Given the description of an element on the screen output the (x, y) to click on. 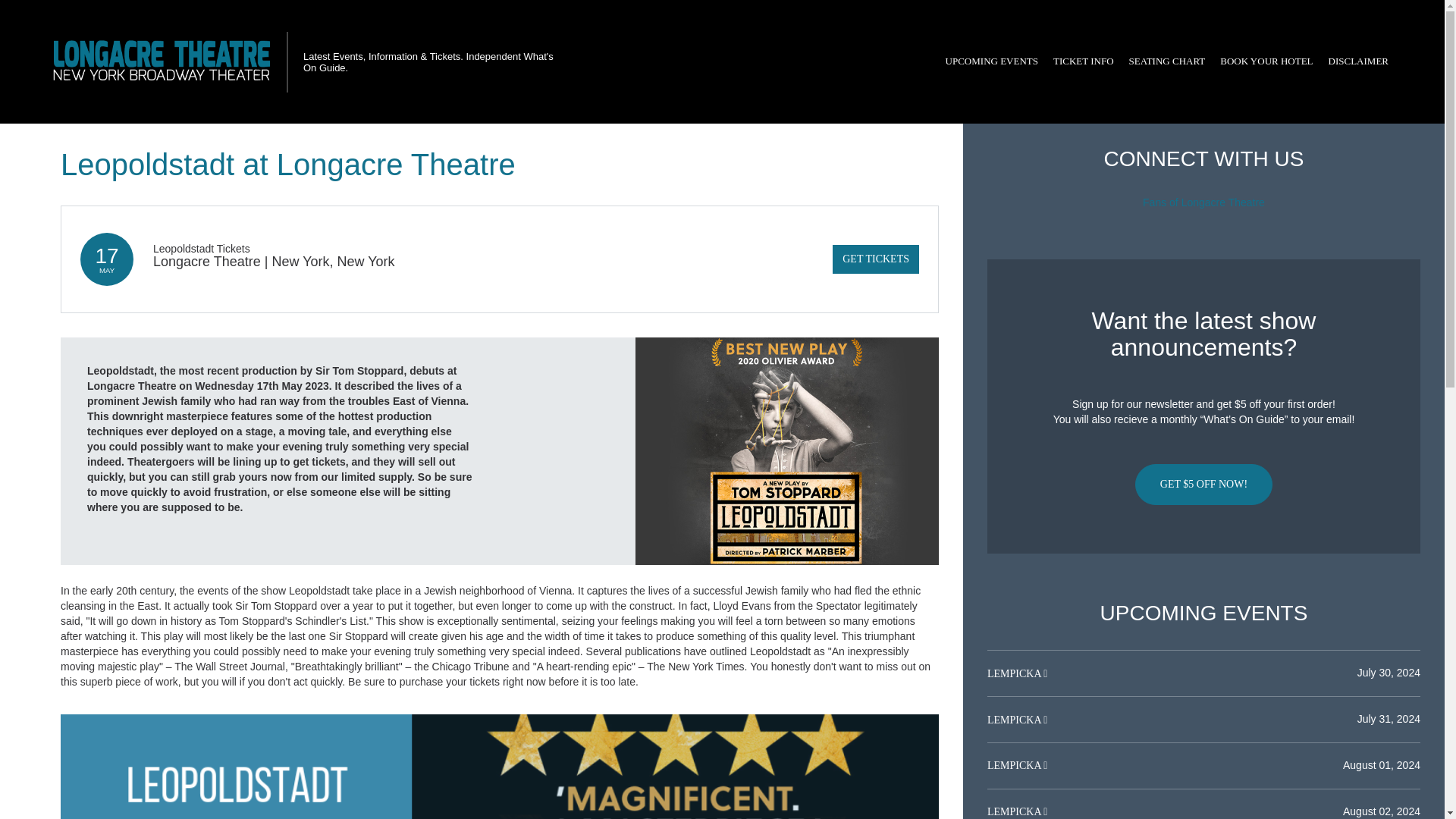
GET TICKETS (875, 258)
TICKET INFO (1083, 61)
Fans of Longacre Theatre (1203, 202)
BOOK YOUR HOTEL (1266, 61)
UPCOMING EVENTS (991, 61)
SEATING CHART (1166, 61)
Leopoldstadt at Longacre Theatre (786, 451)
Leopoldstadt at Longacre Theatre tickets (500, 766)
DISCLAIMER (1358, 61)
Leopoldstadt Tickets (201, 248)
